Given the description of an element on the screen output the (x, y) to click on. 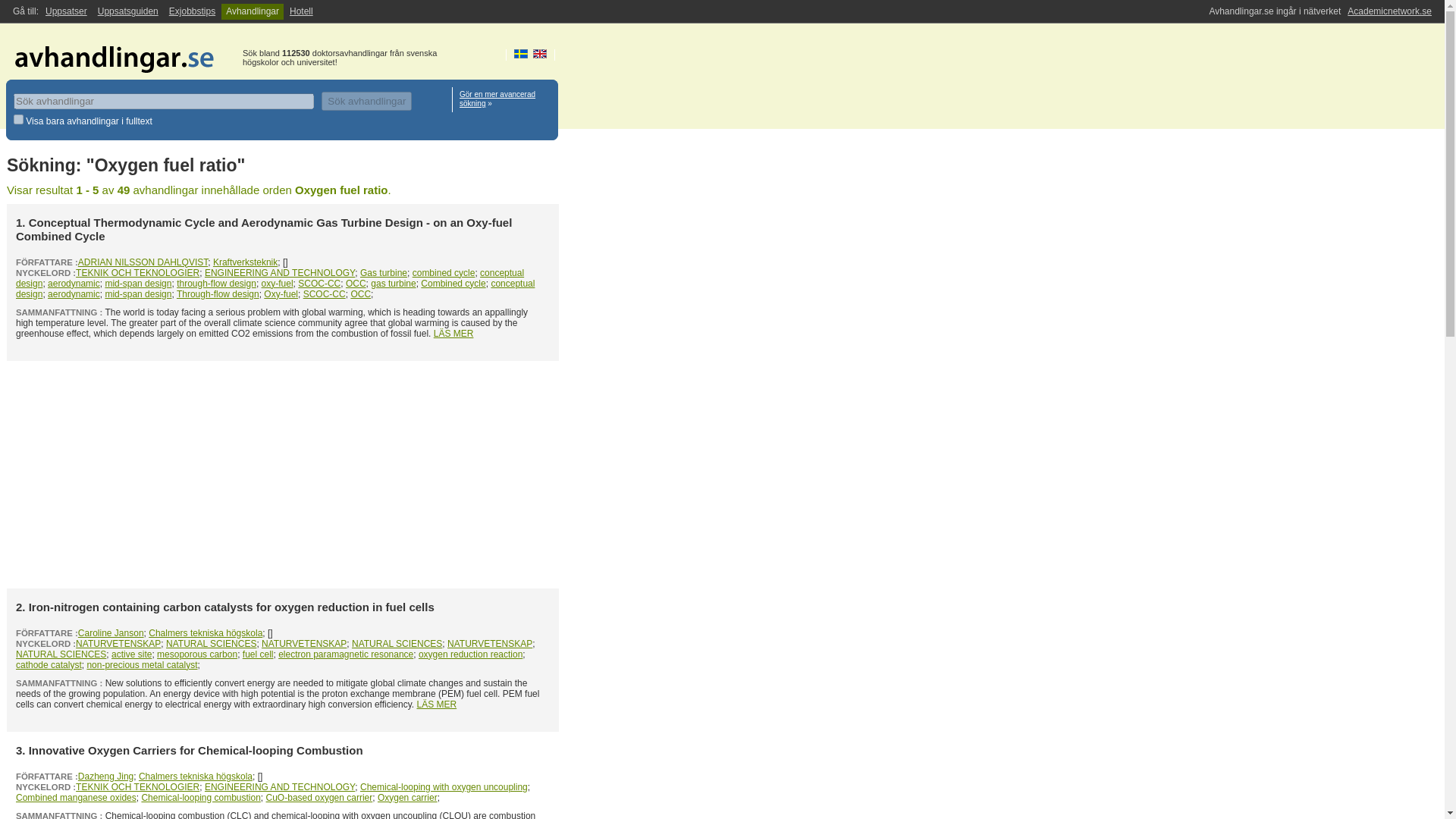
conceptual design (270, 278)
Academicnetwork.se (1388, 11)
Uppsatser (65, 11)
OCC (360, 294)
oxy-fuel (278, 283)
Advertisement (682, 384)
Advertisement (283, 474)
Uppsatsguiden (128, 11)
y (18, 119)
NATURVETENSKAP (117, 643)
through-flow design (216, 283)
mid-span design (137, 283)
combined cycle (444, 272)
Through-flow design (217, 294)
